Given the description of an element on the screen output the (x, y) to click on. 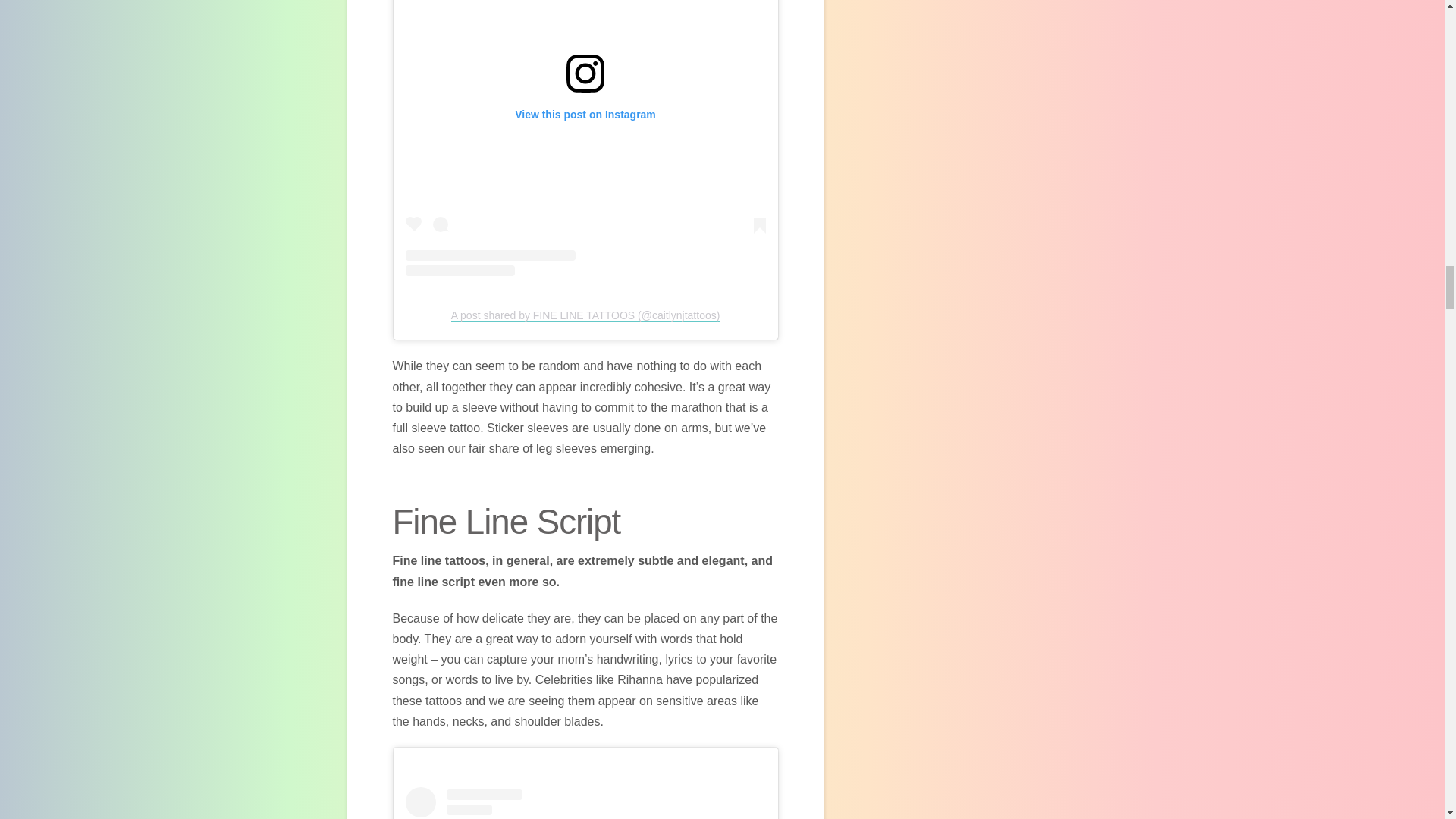
View this post on Instagram (584, 138)
View this post on Instagram (584, 803)
